Given the description of an element on the screen output the (x, y) to click on. 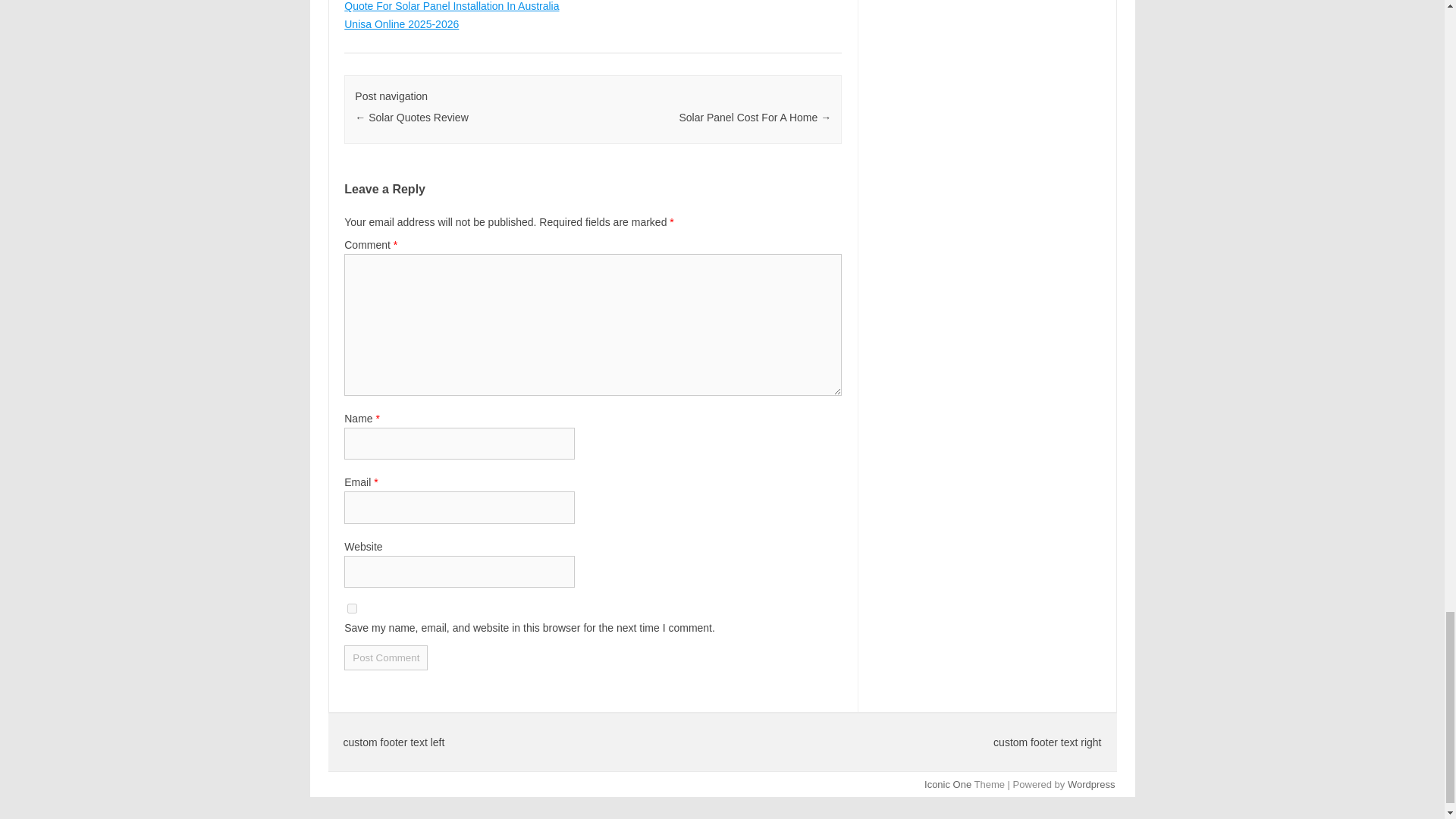
Unisa Online 2025-2026 (400, 24)
Post Comment (385, 657)
yes (351, 608)
Quote For Solar Panel Installation In Australia (451, 6)
Post Comment (385, 657)
